Given the description of an element on the screen output the (x, y) to click on. 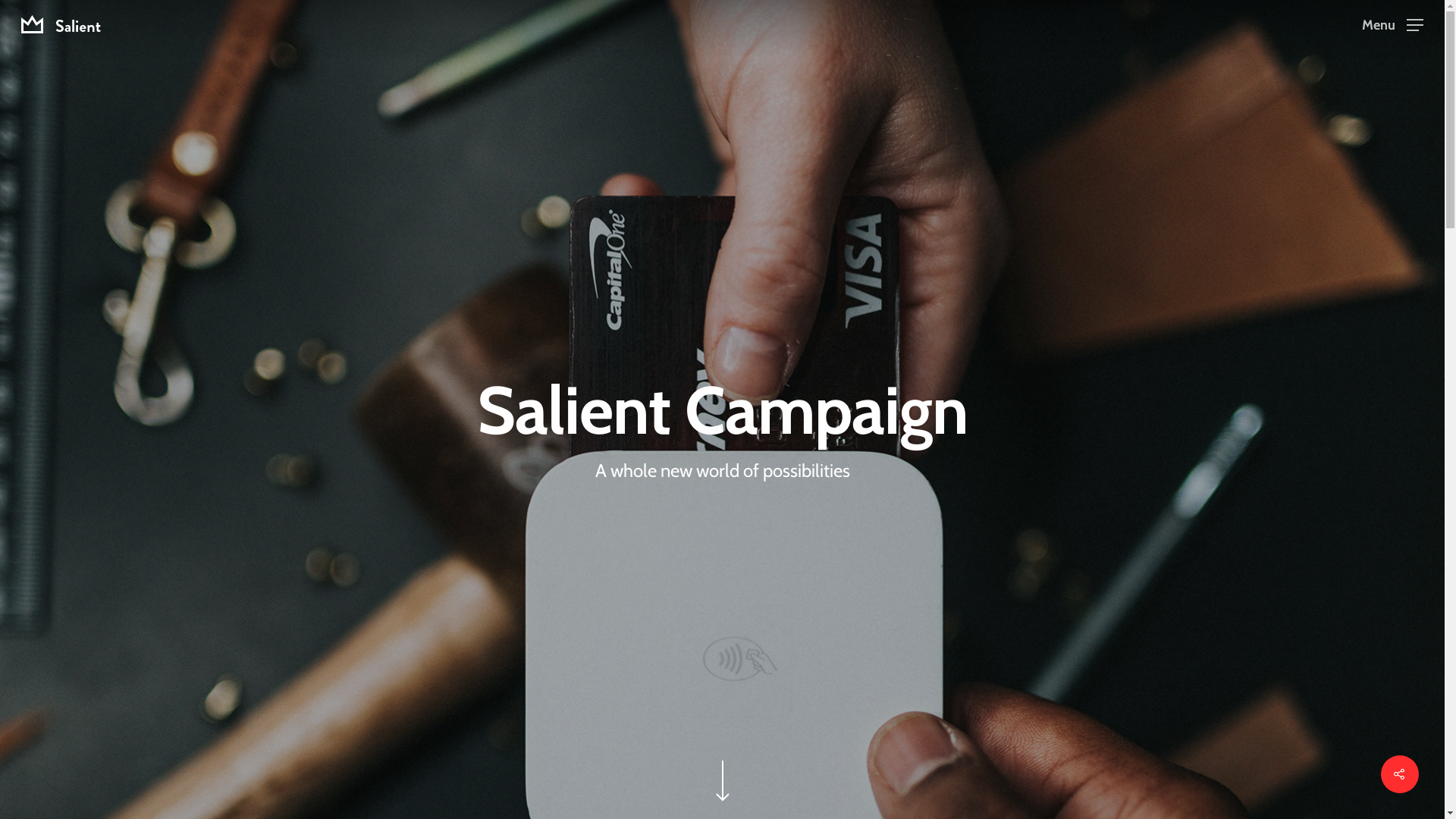
Menu Element type: text (1392, 23)
